Given the description of an element on the screen output the (x, y) to click on. 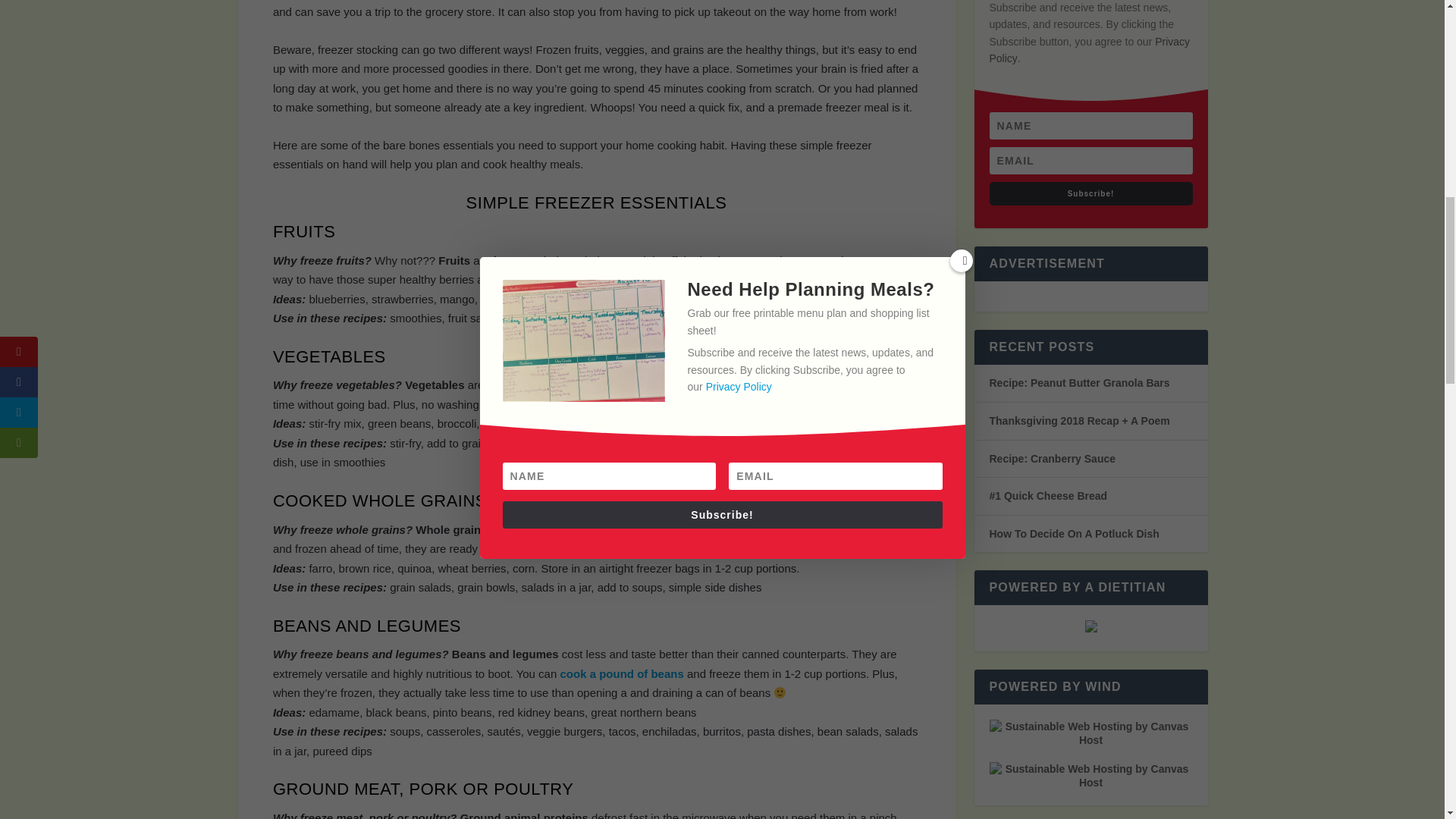
cook a pound of beans (620, 673)
sorbet (813, 318)
